Given the description of an element on the screen output the (x, y) to click on. 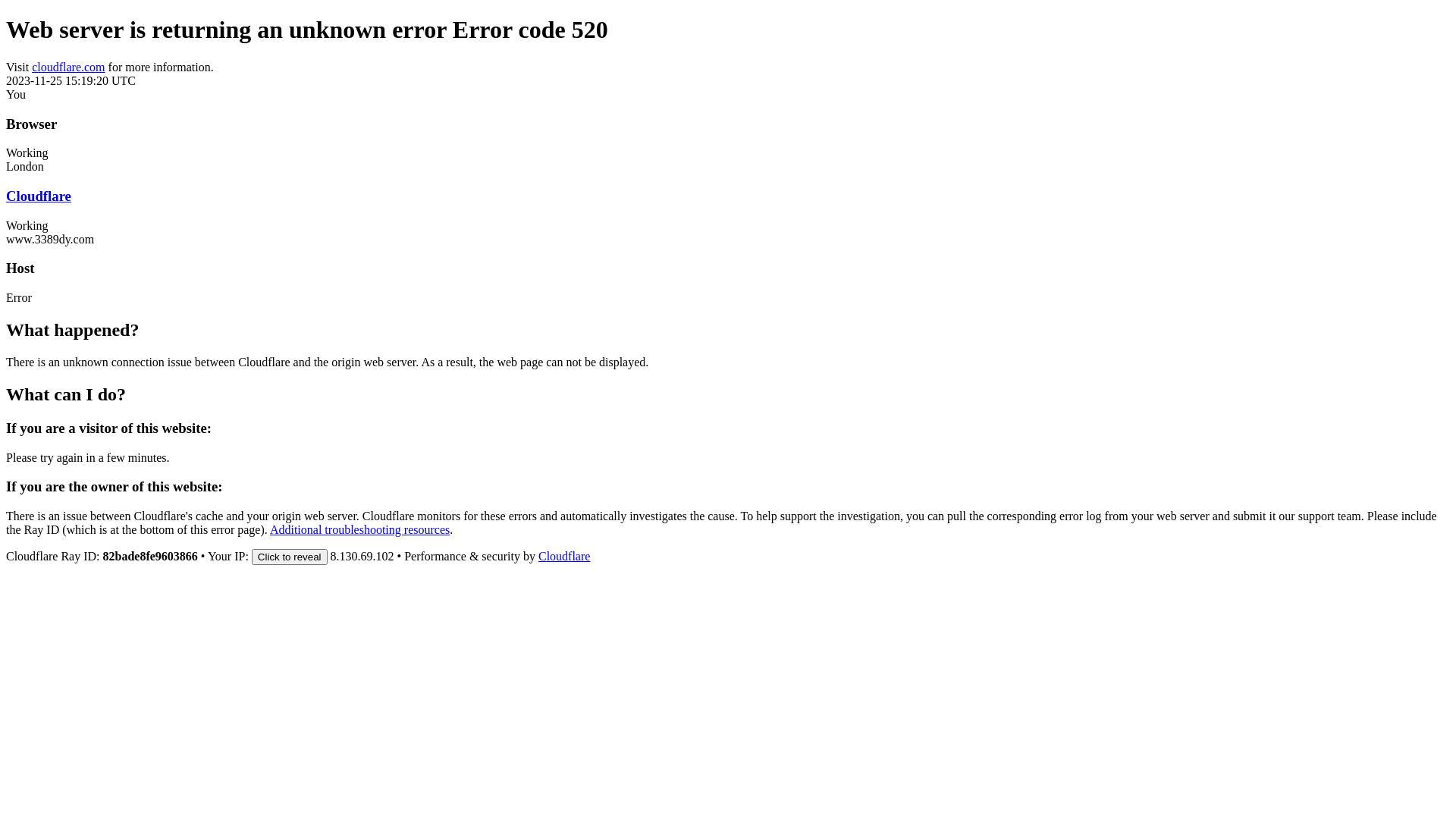
Click to reveal Element type: text (289, 556)
Additional troubleshooting resources Element type: text (359, 529)
Cloudflare Element type: text (38, 195)
Cloudflare Element type: text (563, 555)
cloudflare.com Element type: text (67, 66)
